Given the description of an element on the screen output the (x, y) to click on. 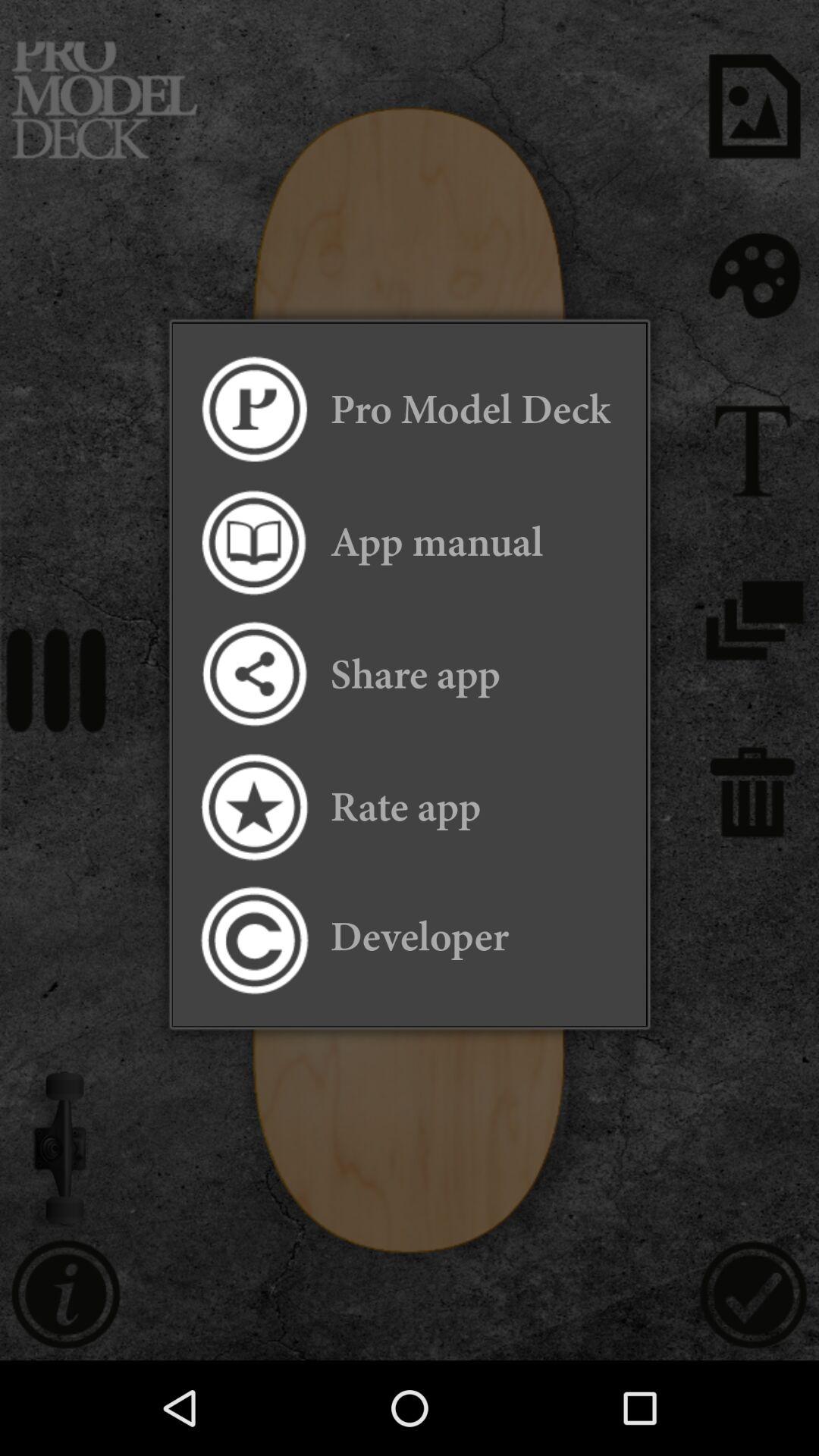
read manual (253, 542)
